Given the description of an element on the screen output the (x, y) to click on. 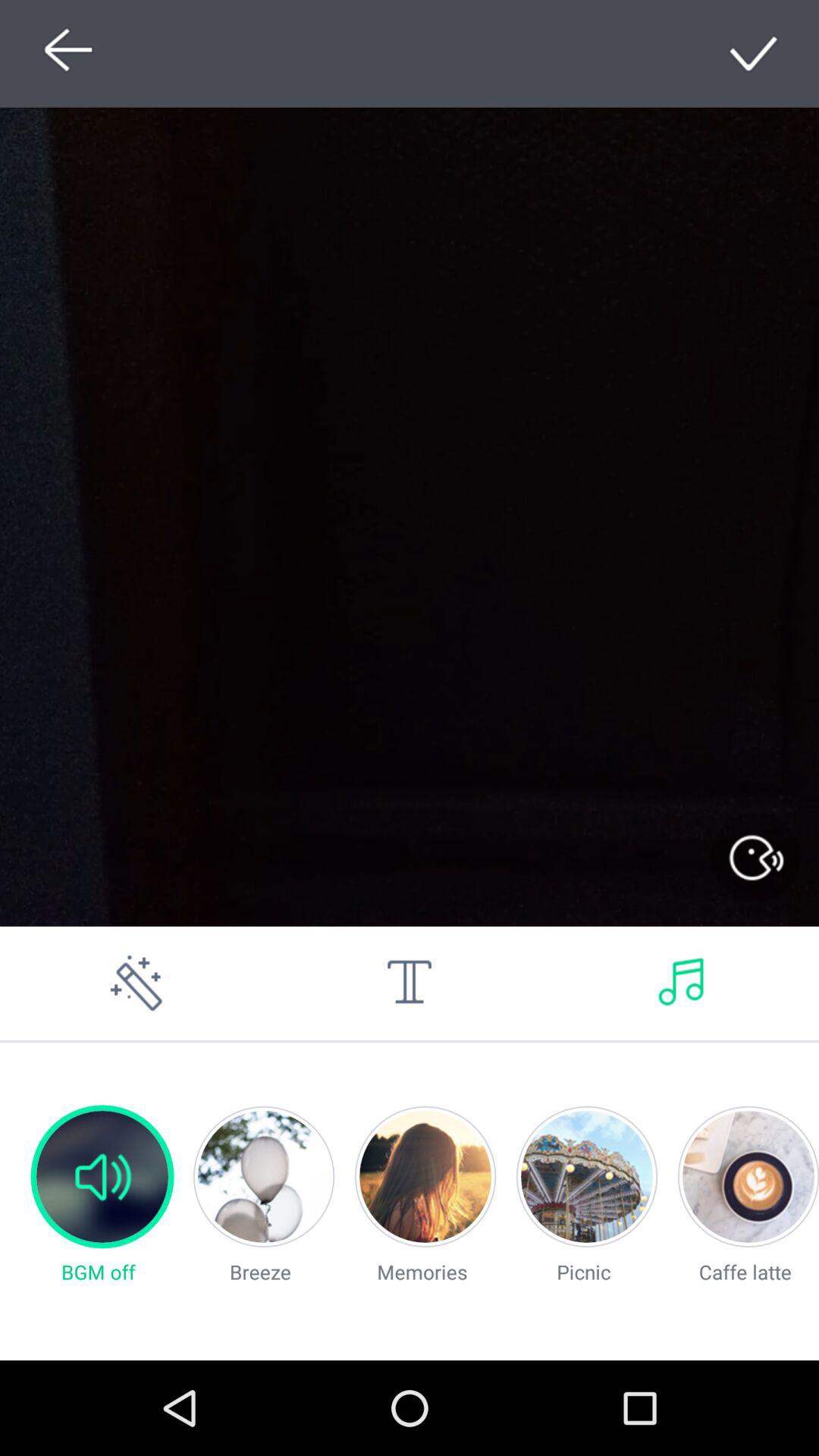
write text (409, 983)
